Given the description of an element on the screen output the (x, y) to click on. 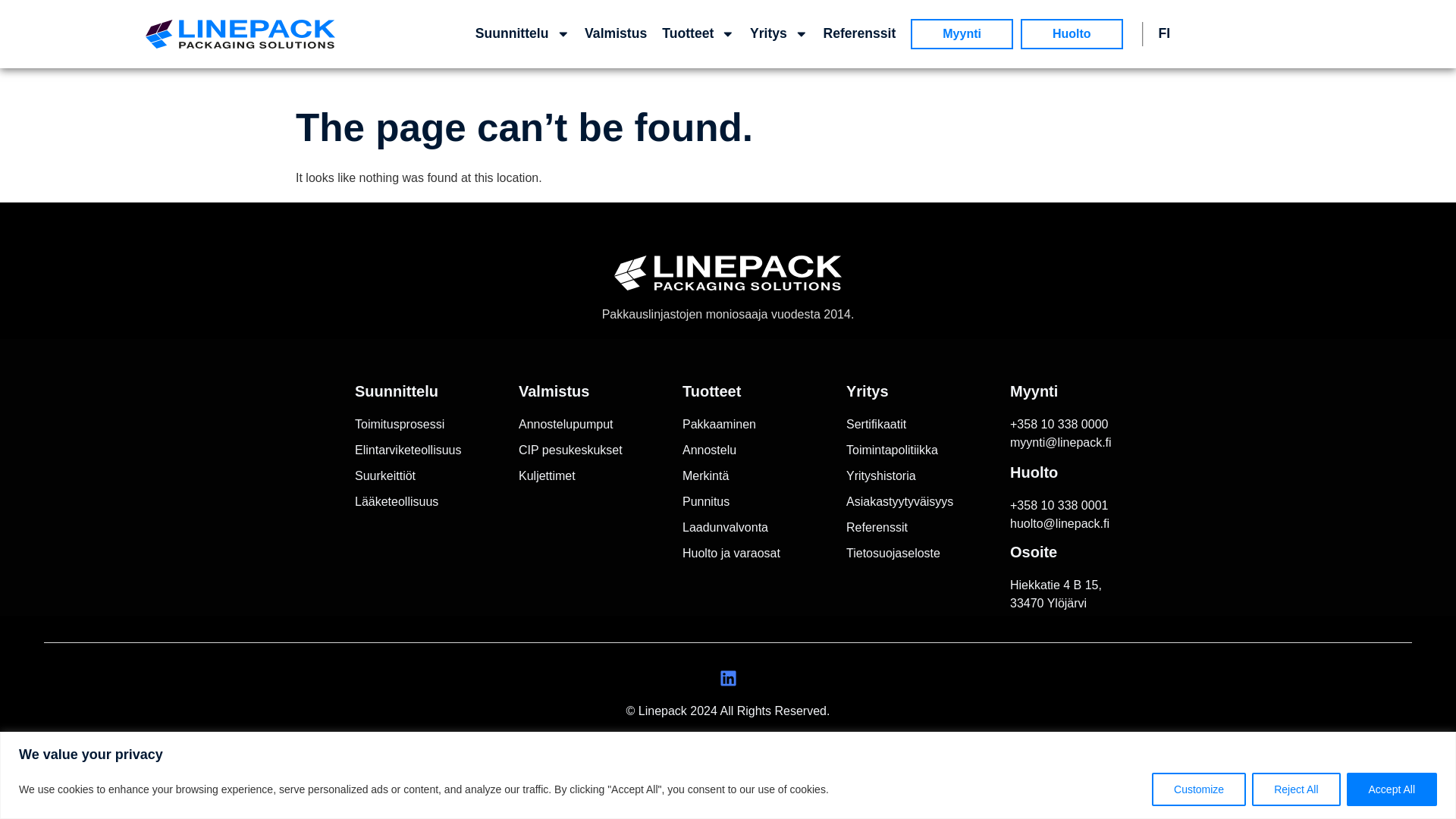
Referenssit (858, 33)
Tuotteet (697, 33)
Valmistus (614, 33)
Yritys (778, 33)
Suunnittelu (521, 33)
